Given the description of an element on the screen output the (x, y) to click on. 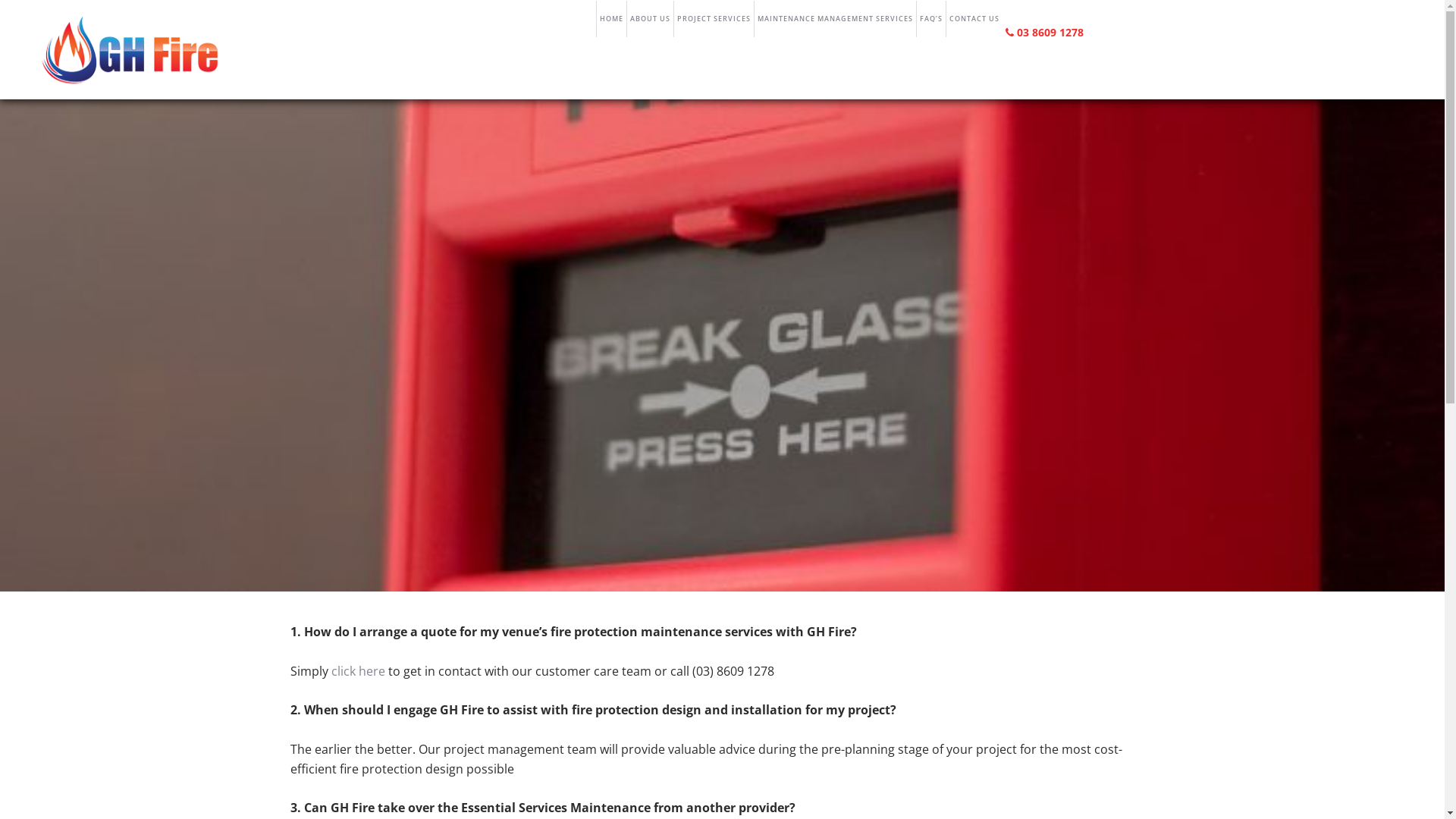
CONTACT US Element type: text (973, 18)
PROJECT SERVICES Element type: text (713, 18)
HOME Element type: text (611, 18)
03 8609 1278 Element type: text (1044, 32)
click here Element type: text (357, 670)
ABOUT US Element type: text (649, 18)
MAINTENANCE MANAGEMENT SERVICES Element type: text (834, 18)
